Given the description of an element on the screen output the (x, y) to click on. 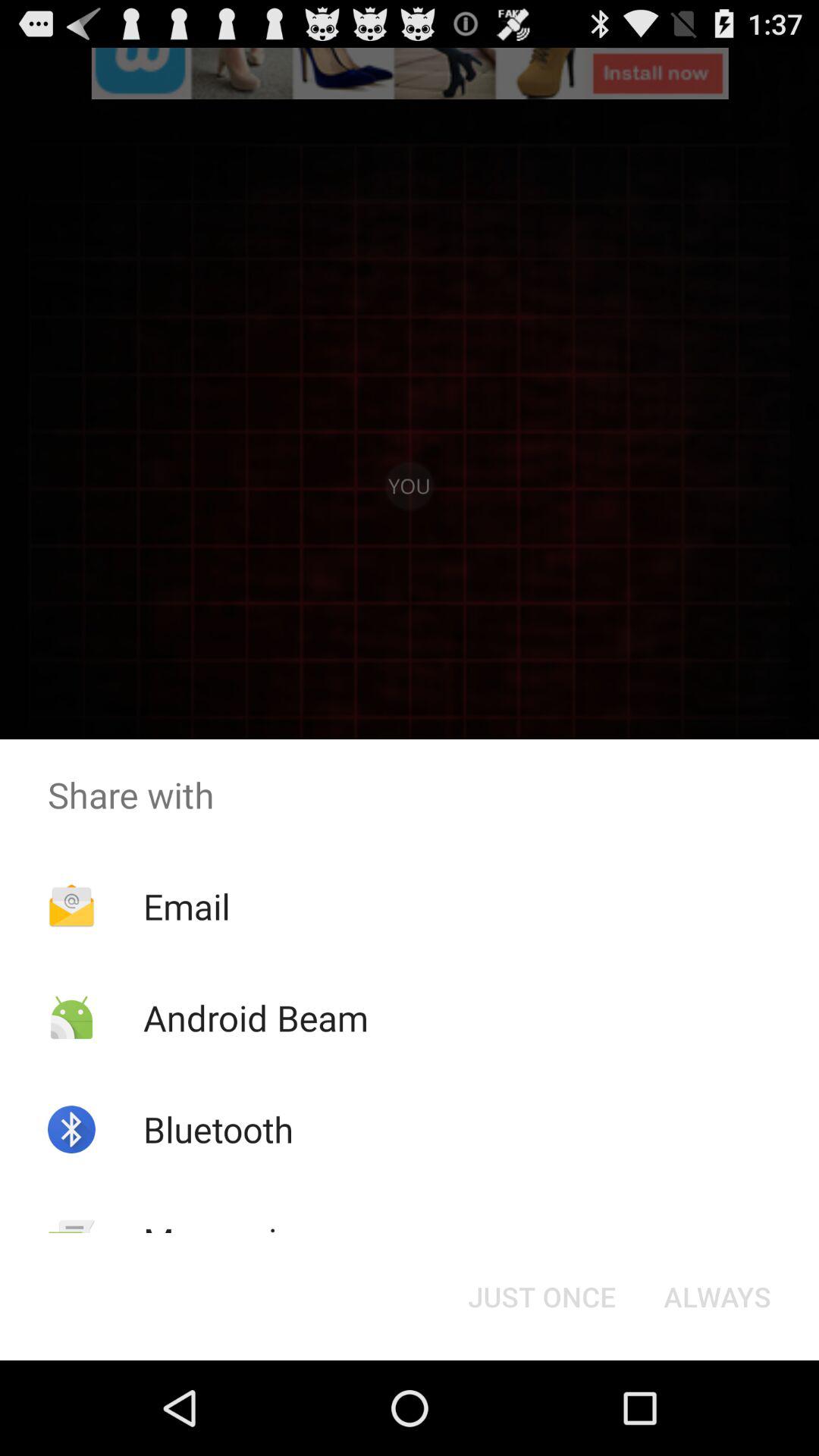
press the item next to just once icon (229, 1240)
